Given the description of an element on the screen output the (x, y) to click on. 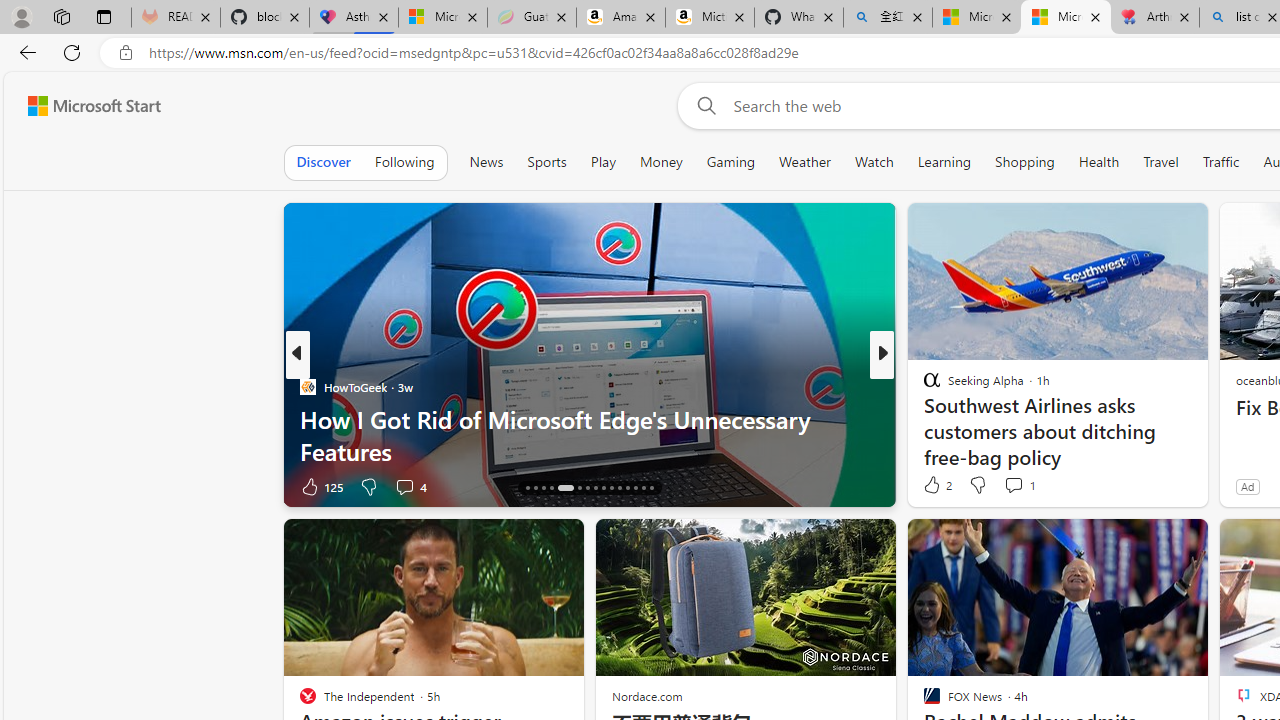
AutomationID: tab-24 (603, 487)
